Given the description of an element on the screen output the (x, y) to click on. 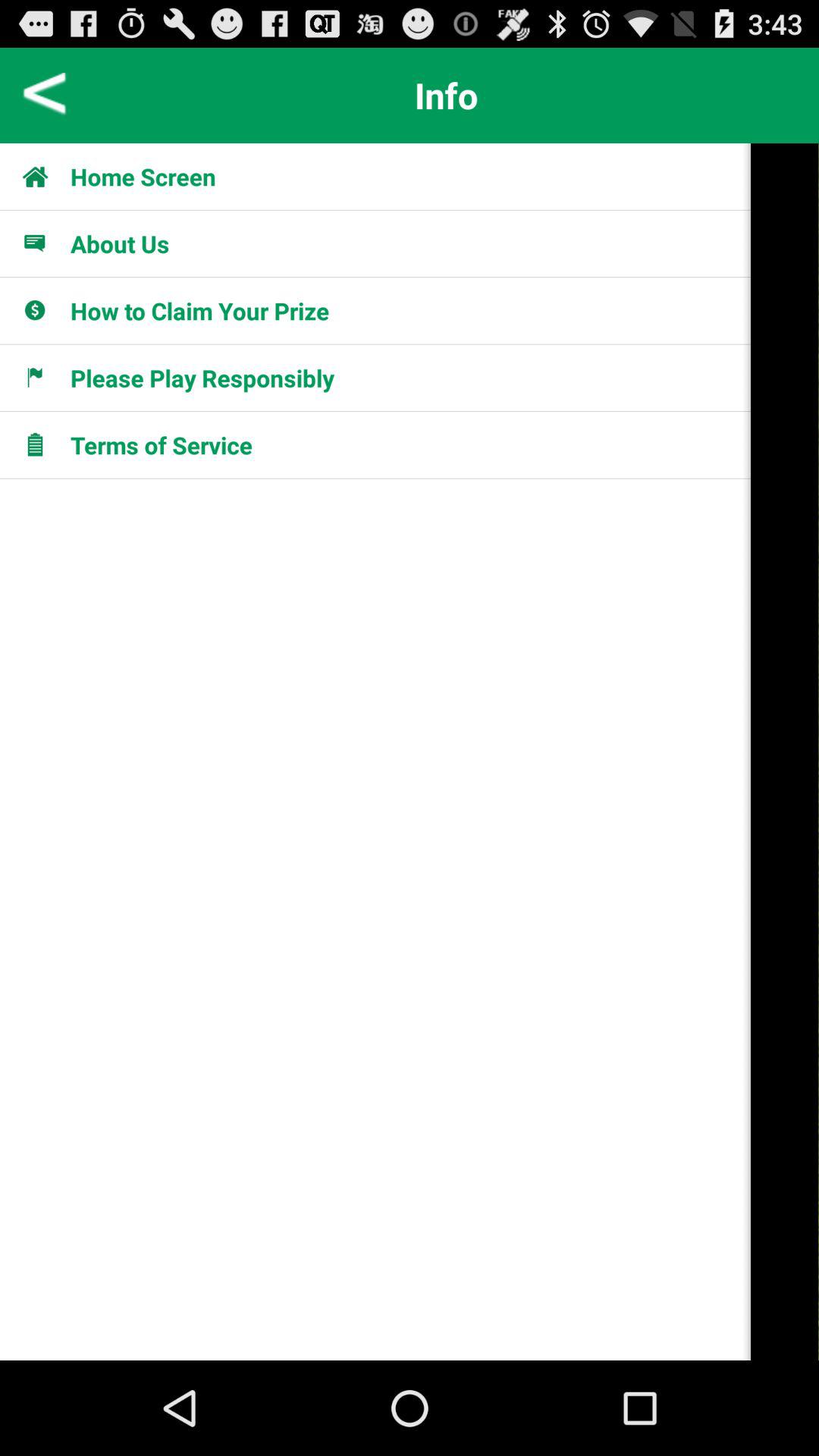
turn off the icon on the right (784, 751)
